Given the description of an element on the screen output the (x, y) to click on. 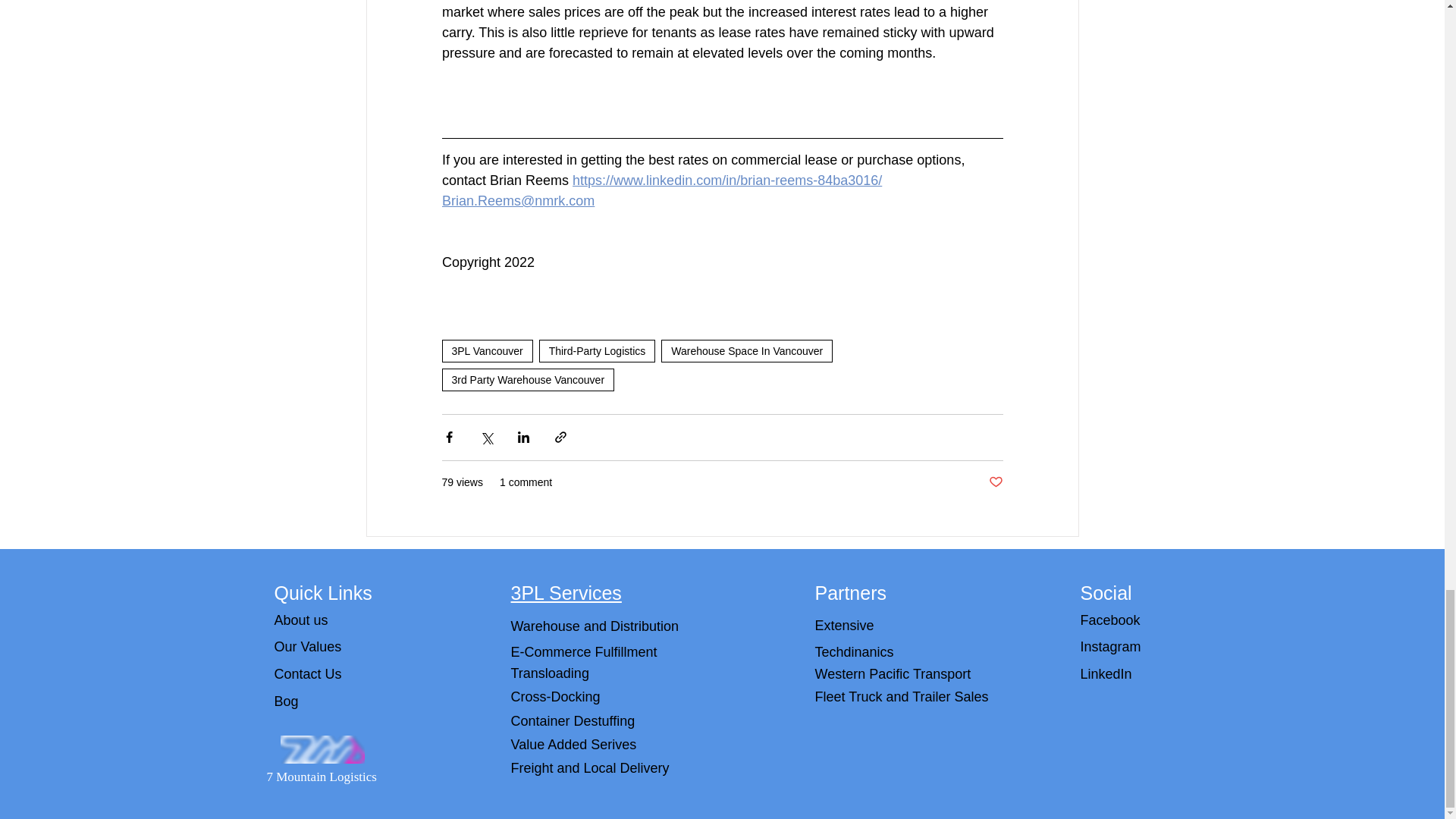
Third-Party Logistics (597, 350)
Warehouse Space In Vancouver (746, 350)
3rd Party Warehouse Vancouver (527, 379)
3PL Vancouver (486, 350)
